Given the description of an element on the screen output the (x, y) to click on. 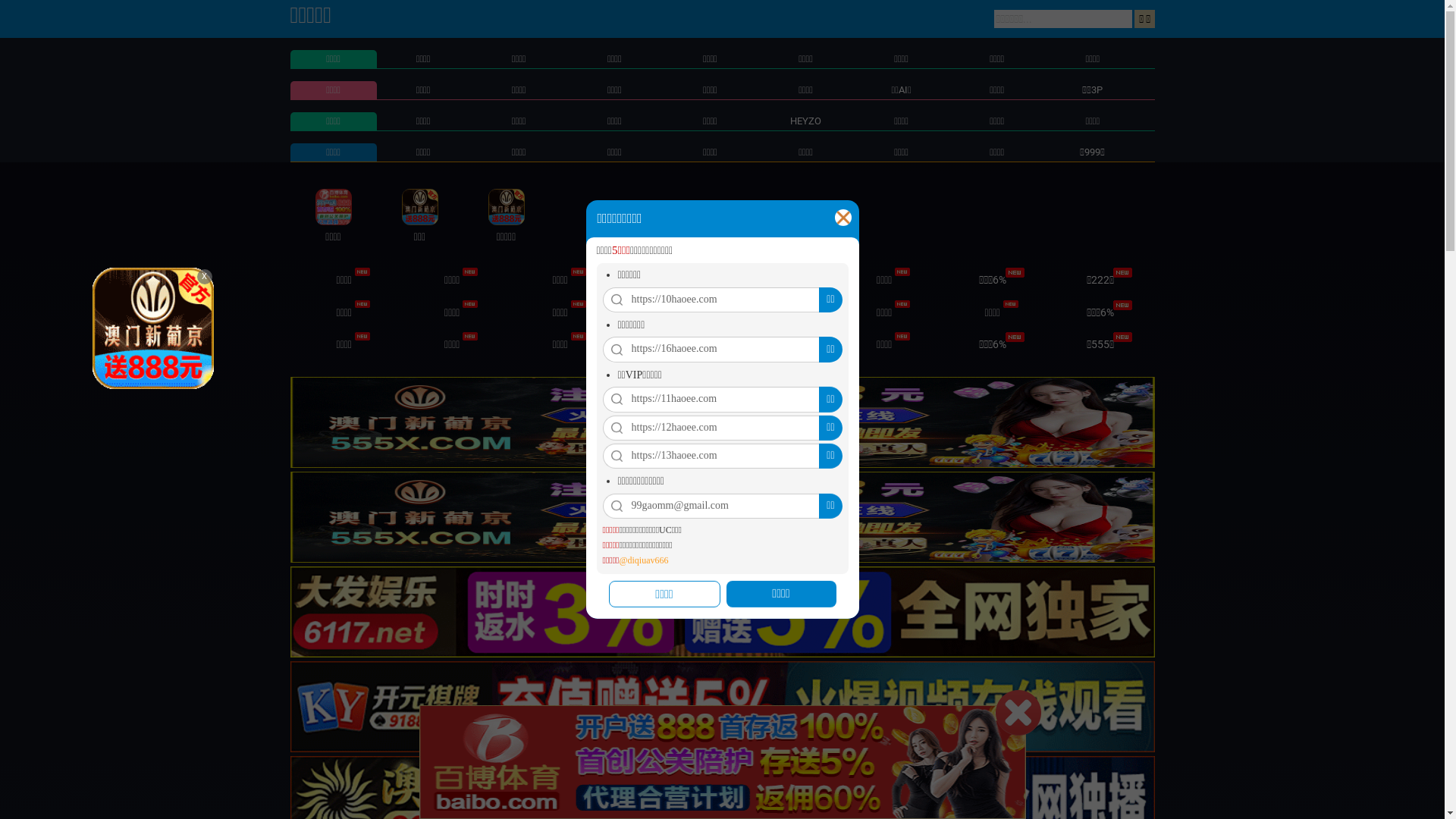
@diqiuav666 Element type: text (643, 560)
HEYZO Element type: text (805, 120)
